Given the description of an element on the screen output the (x, y) to click on. 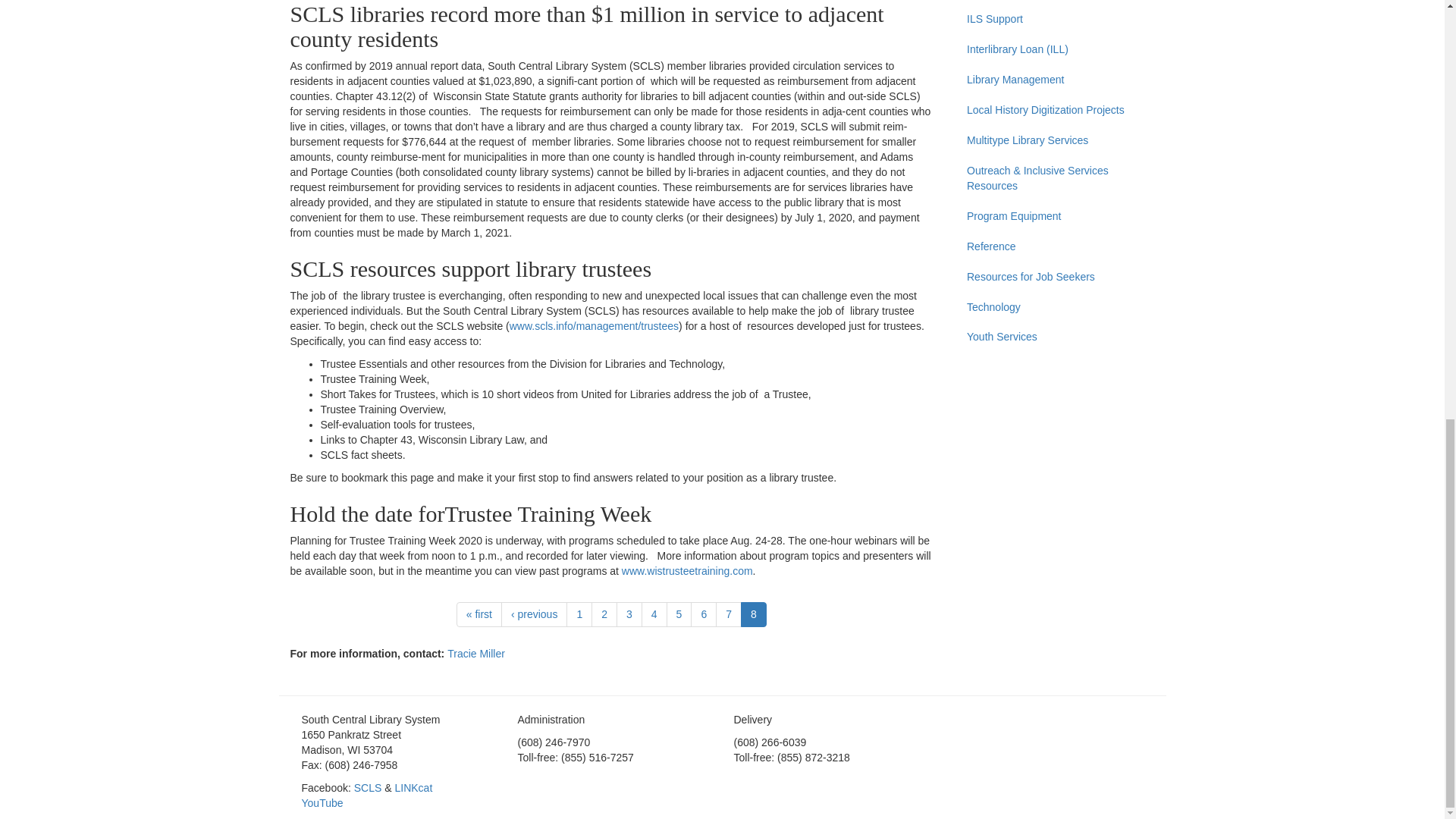
Go to page 3 (628, 614)
Go to page 5 (679, 614)
Go to page 4 (654, 614)
Go to page 6 (703, 614)
Go to previous page (533, 614)
Go to page 7 (728, 614)
Go to page 2 (604, 614)
Go to page 1 (579, 614)
Go to first page (479, 614)
